Given the description of an element on the screen output the (x, y) to click on. 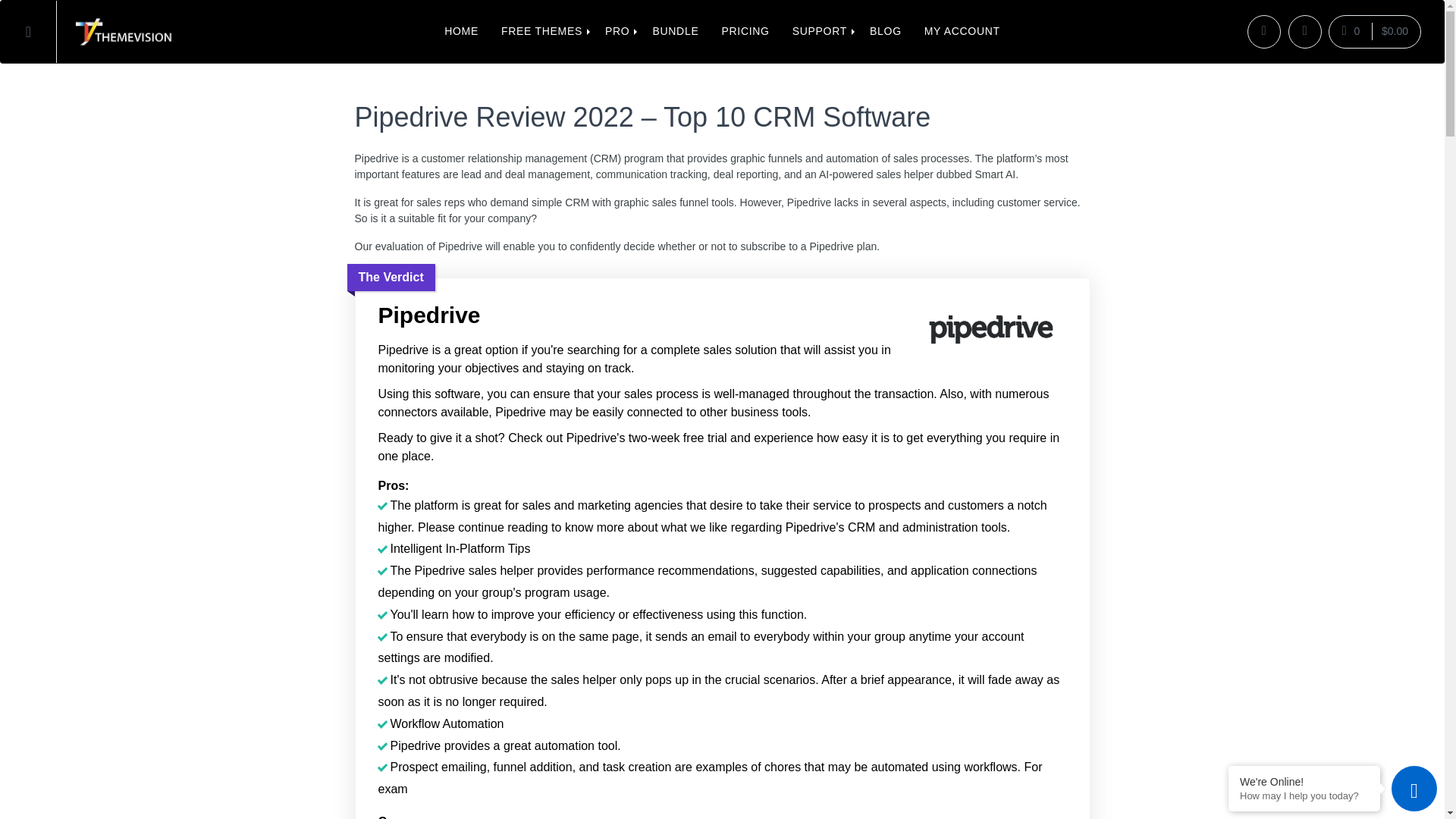
Pipedrive (989, 332)
HOME (460, 31)
How may I help you today? (1304, 795)
We're Online! (1304, 781)
View Cart (1375, 31)
Pipedrive (721, 315)
FREE THEMES (541, 31)
